Given the description of an element on the screen output the (x, y) to click on. 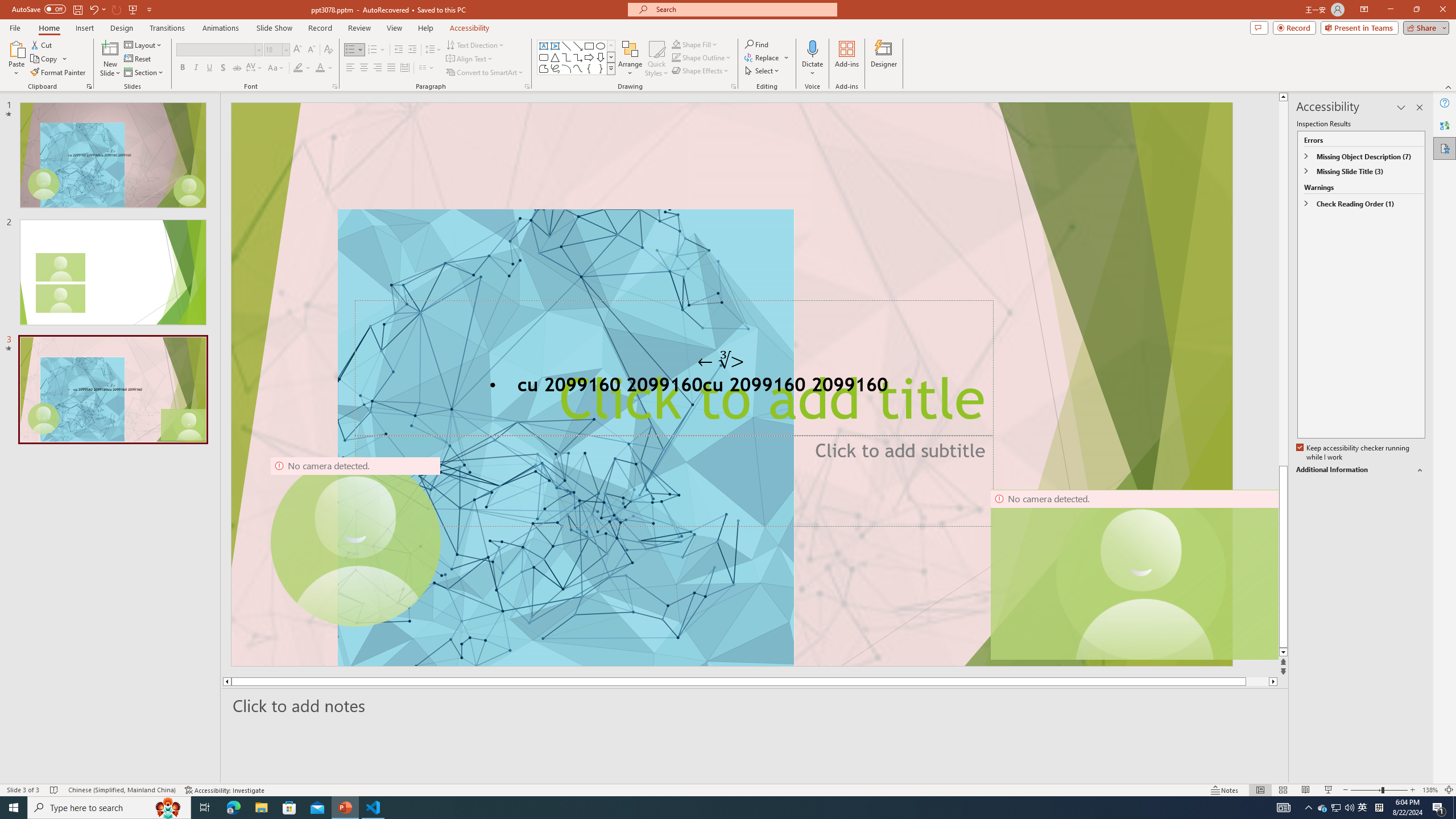
Subtitle TextBox (673, 480)
Shape Outline Green, Accent 1 (675, 56)
